Given the description of an element on the screen output the (x, y) to click on. 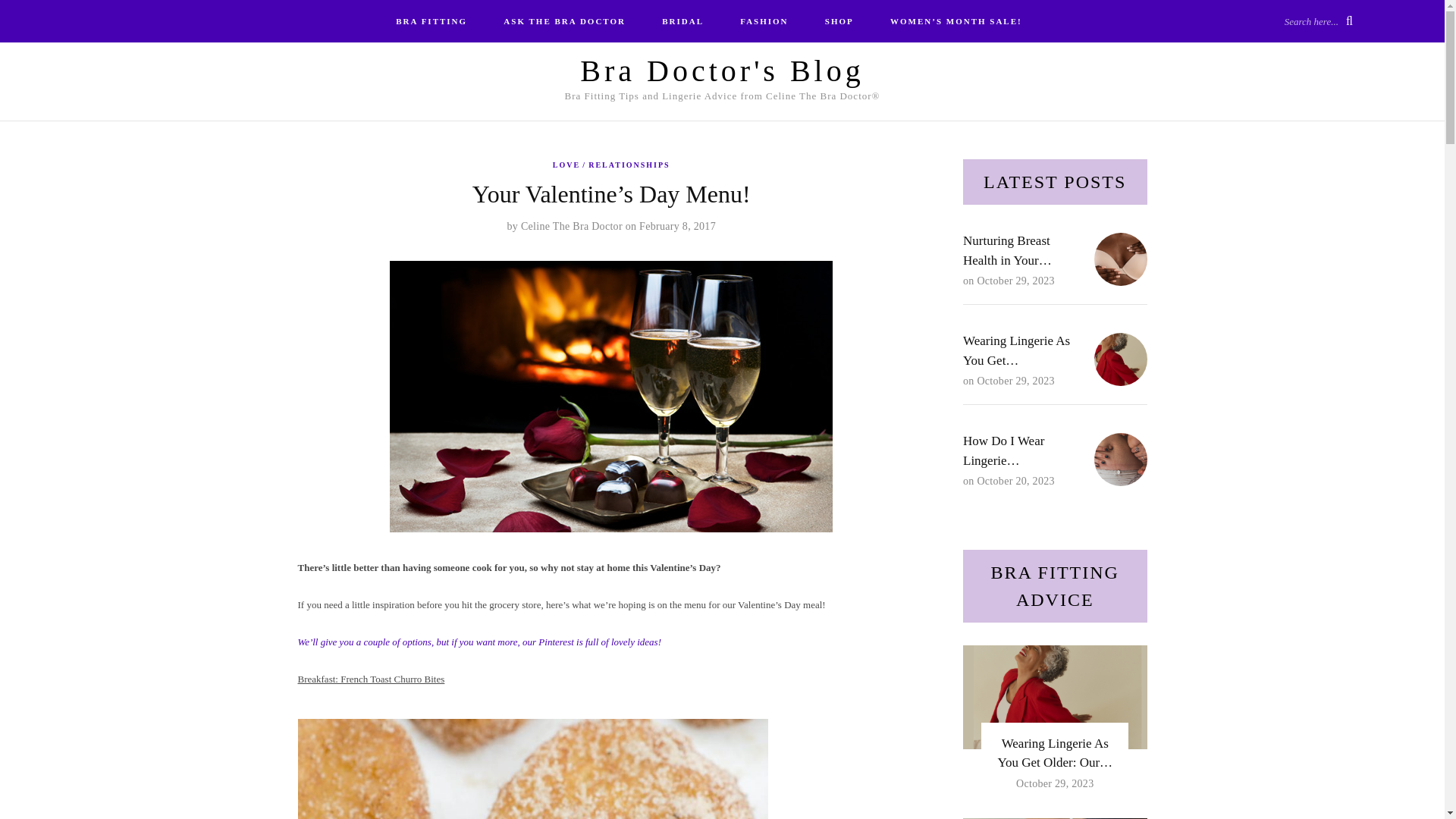
Bra Doctor's Blog (721, 70)
LOVE (569, 164)
BRA FITTING (430, 21)
BRIDAL (682, 21)
Bra Doctor's Blog (721, 70)
ASK THE BRA DOCTOR (563, 21)
Celine The Bra Doctor (572, 225)
FASHION (764, 21)
RELATIONSHIPS (628, 164)
Ask The Bra Doctor (563, 21)
